Given the description of an element on the screen output the (x, y) to click on. 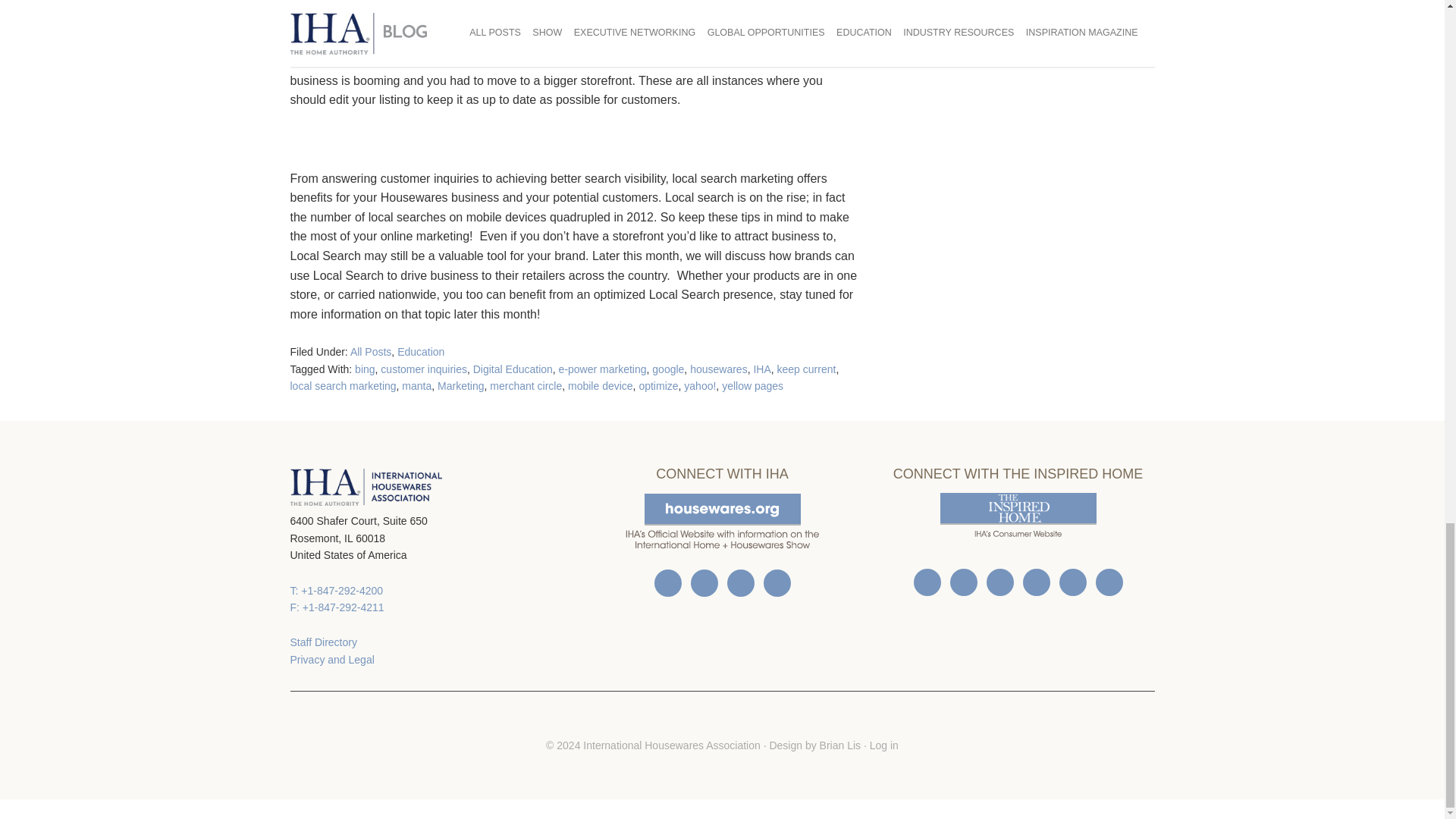
All Posts (370, 351)
Brian Lis Web Design (839, 745)
Education (420, 351)
